Given the description of an element on the screen output the (x, y) to click on. 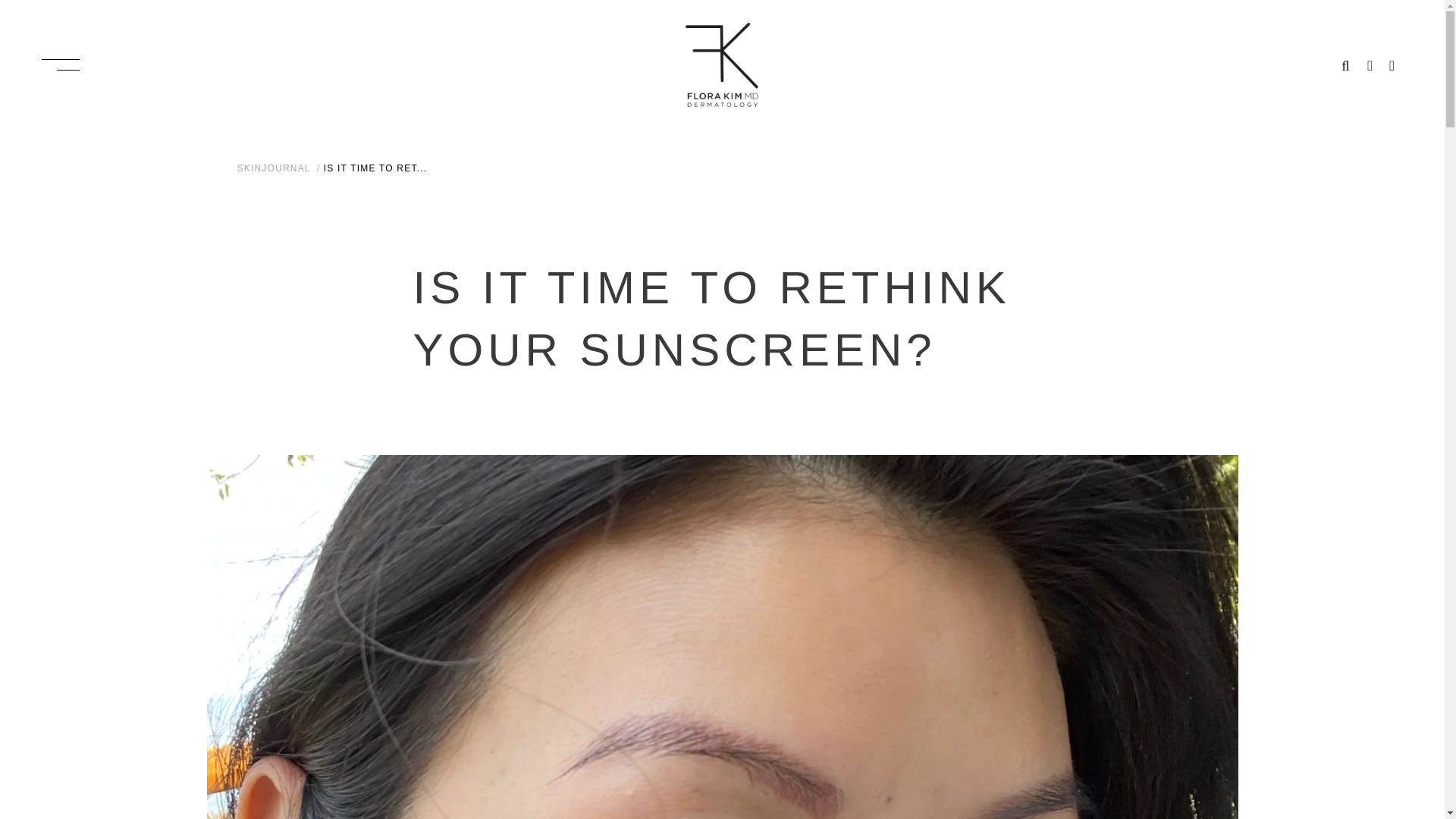
SEARCH (1345, 64)
SKINJOURNAL (274, 167)
SkinJournal (274, 167)
